Given the description of an element on the screen output the (x, y) to click on. 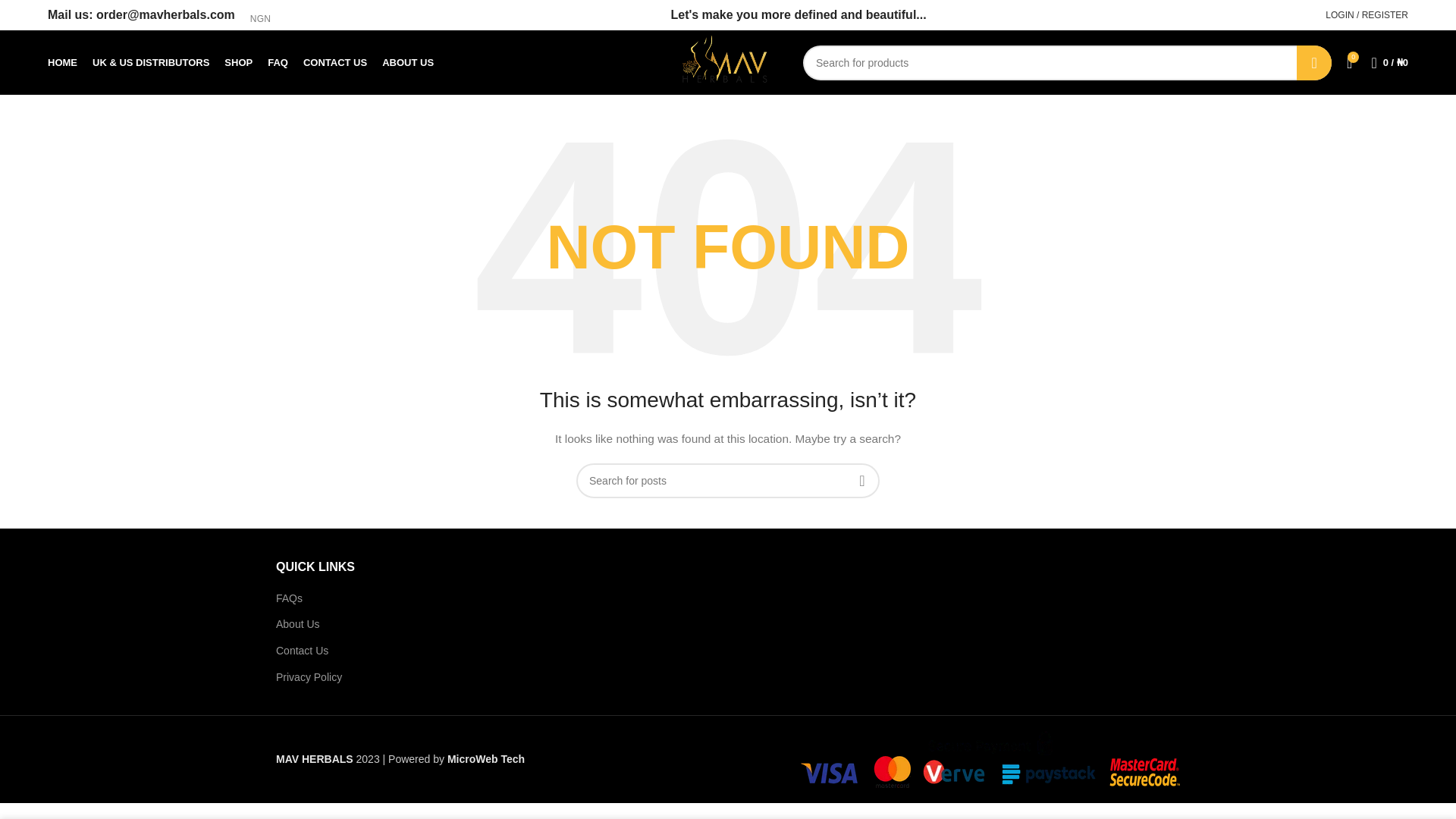
CONTACT US (334, 61)
SHOP (237, 61)
Privacy Policy (309, 676)
Search for posts (727, 480)
MicroWeb Tech (485, 758)
Shopping cart (1388, 61)
Search for products (1067, 62)
About Us (298, 623)
MAV HERBALS (314, 758)
My account (1366, 15)
